Given the description of an element on the screen output the (x, y) to click on. 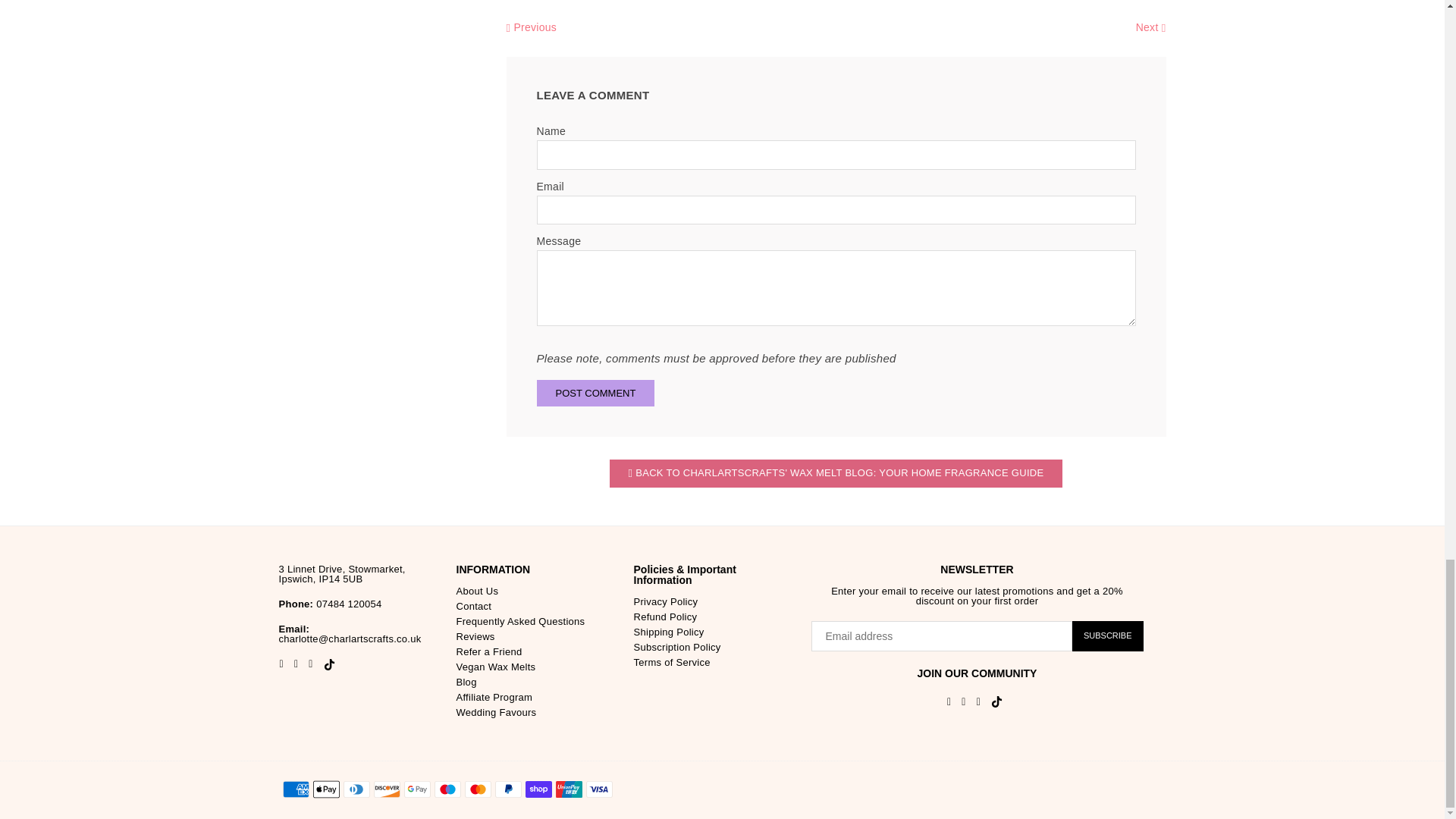
Mastercard (477, 789)
Diners Club (355, 789)
Post comment (596, 393)
Apple Pay (326, 789)
American Express (295, 789)
Maestro (446, 789)
Union Pay (567, 789)
Google Pay (416, 789)
Shop Pay (537, 789)
Visa (598, 789)
